Given the description of an element on the screen output the (x, y) to click on. 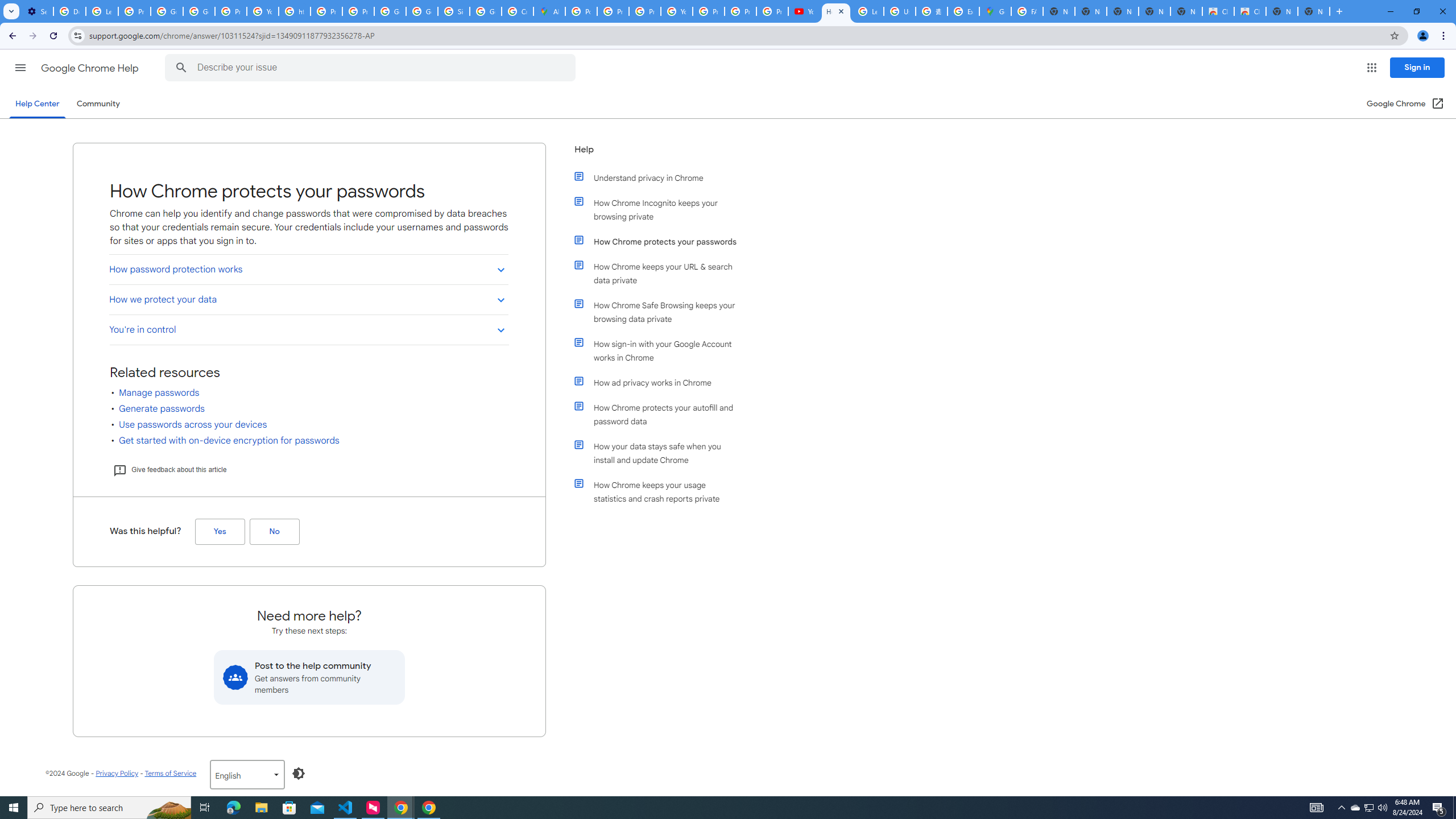
YouTube (262, 11)
Settings - On startup (37, 11)
Google Maps (995, 11)
Understand privacy in Chrome (661, 177)
